Given the description of an element on the screen output the (x, y) to click on. 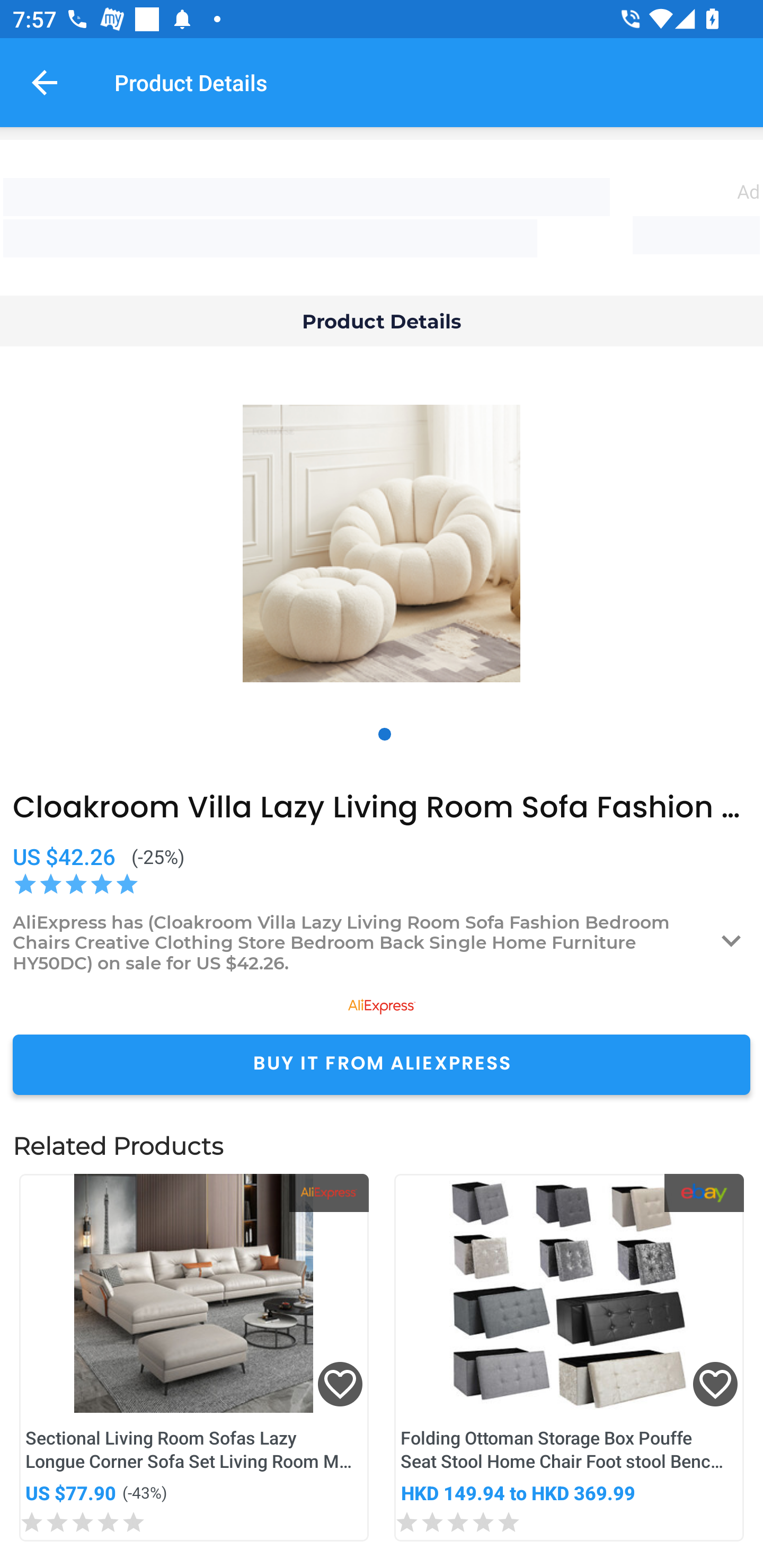
Navigate up (44, 82)
BUY IT FROM ALIEXPRESS (381, 1064)
